Given the description of an element on the screen output the (x, y) to click on. 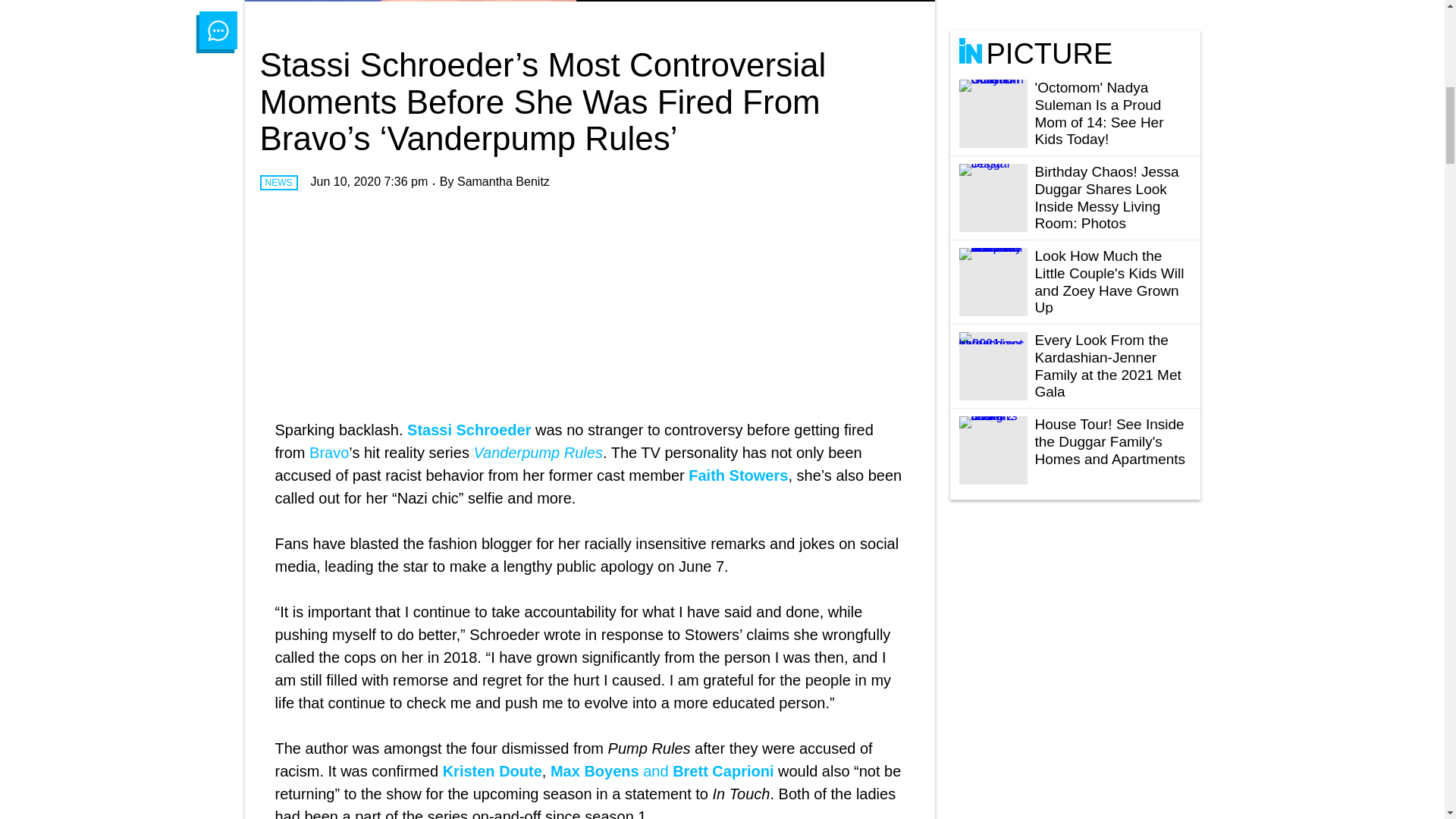
Posts by Samantha Benitz (503, 181)
